Given the description of an element on the screen output the (x, y) to click on. 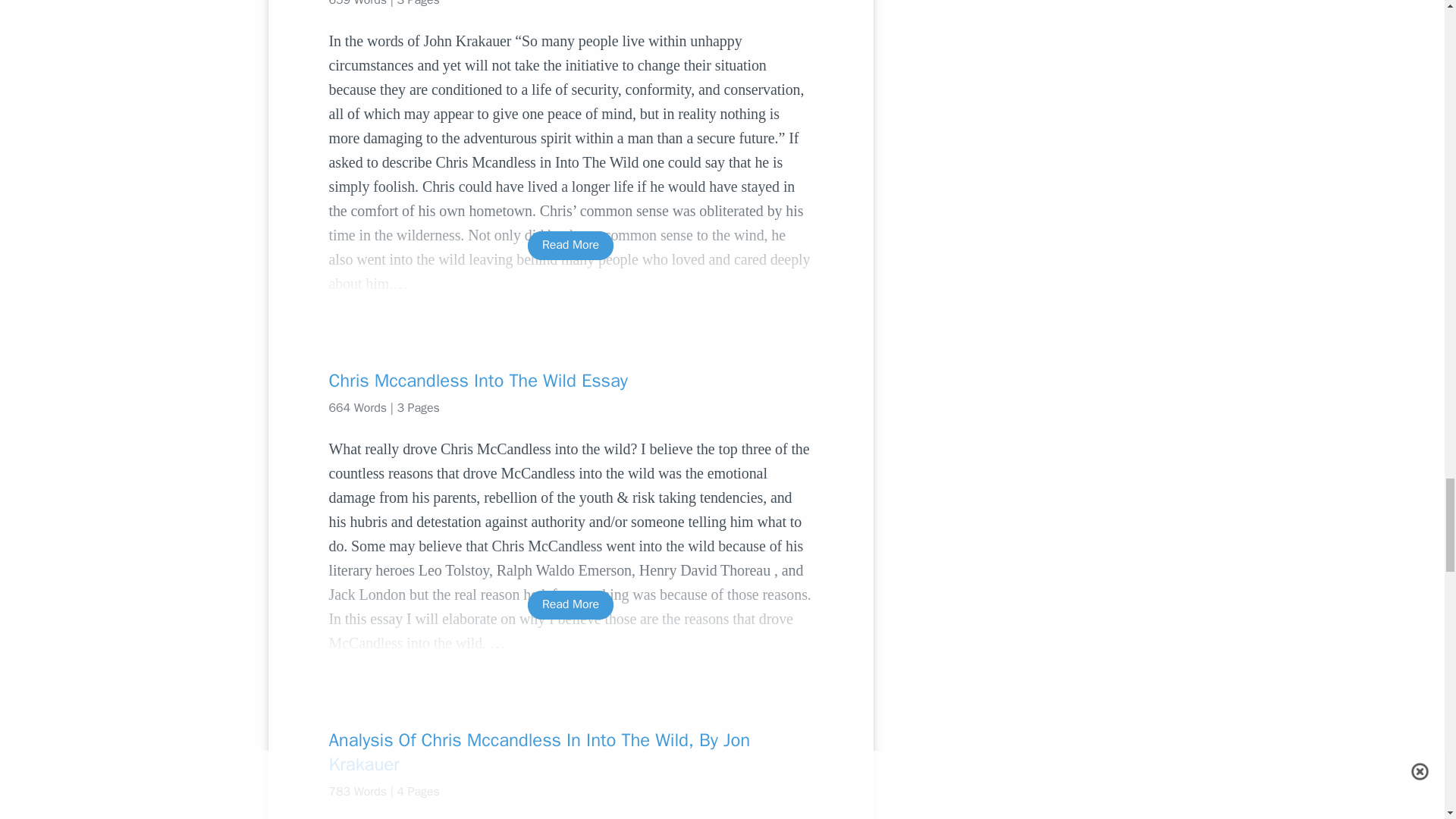
Read More (569, 244)
Chris Mccandless Into The Wild Essay (570, 380)
